Given the description of an element on the screen output the (x, y) to click on. 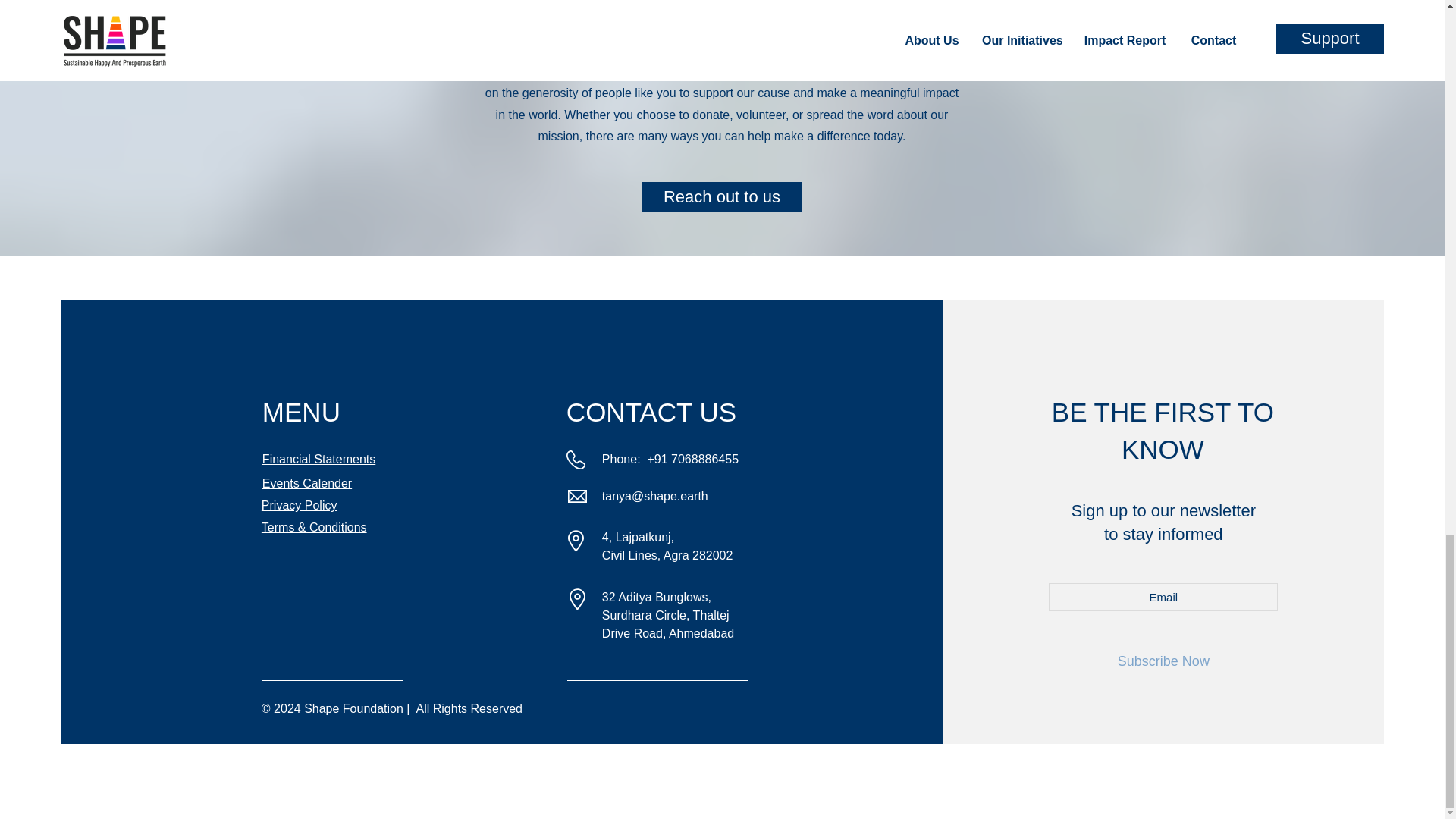
Subscribe Now (1162, 661)
Privacy Policy (299, 504)
